Given the description of an element on the screen output the (x, y) to click on. 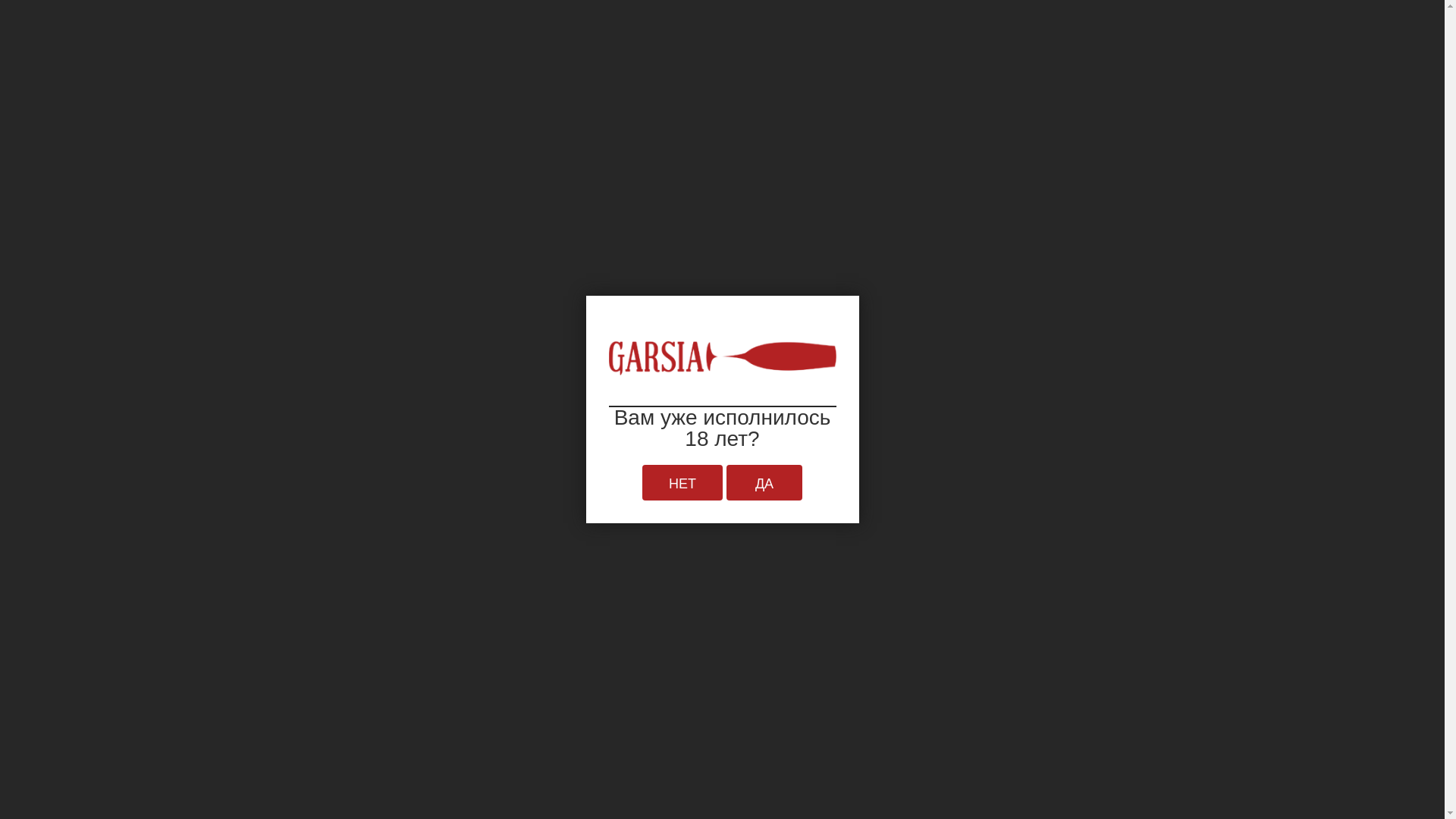
EN Element type: text (1234, 28)
